Given the description of an element on the screen output the (x, y) to click on. 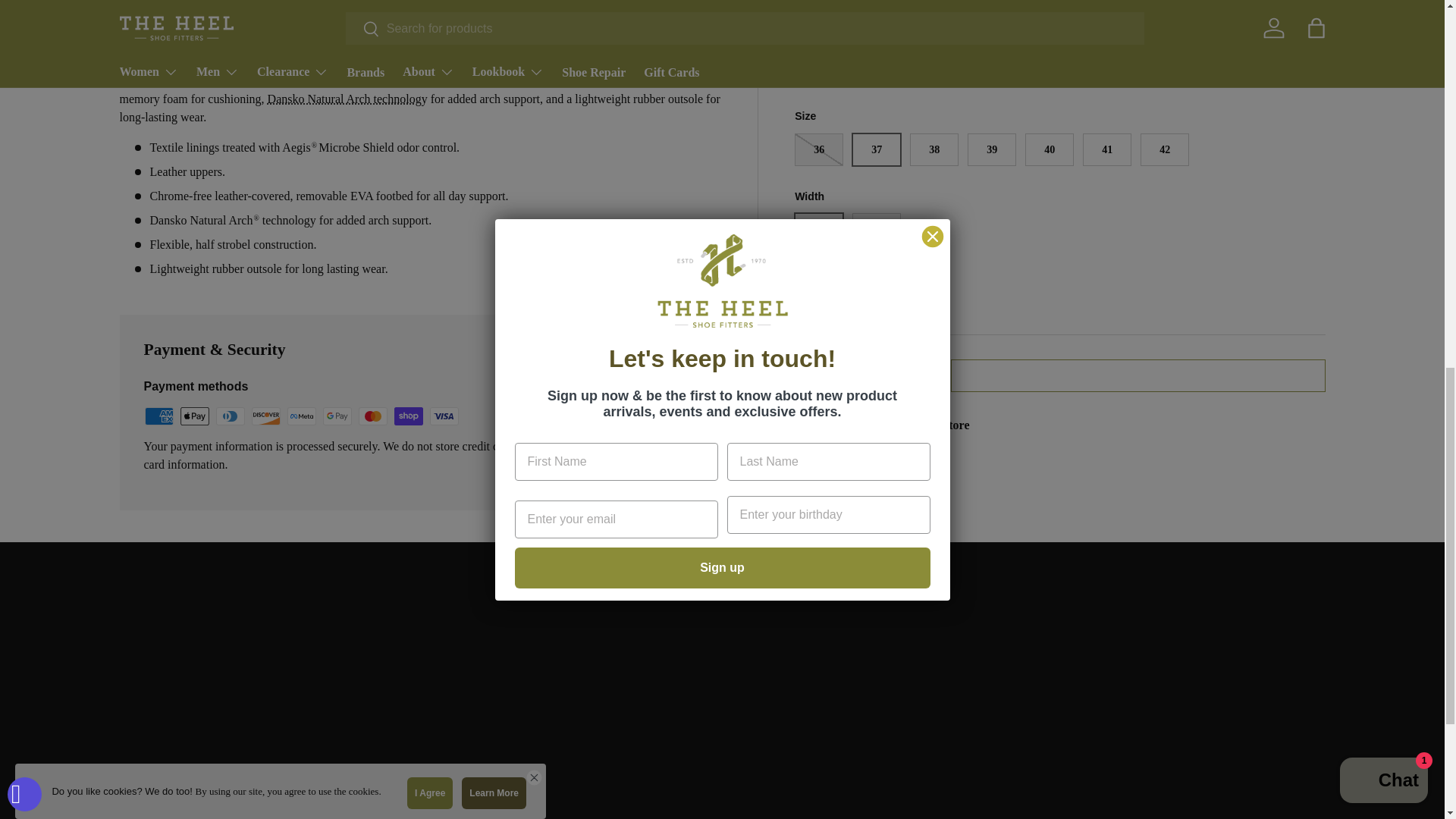
Description (420, 5)
